Given the description of an element on the screen output the (x, y) to click on. 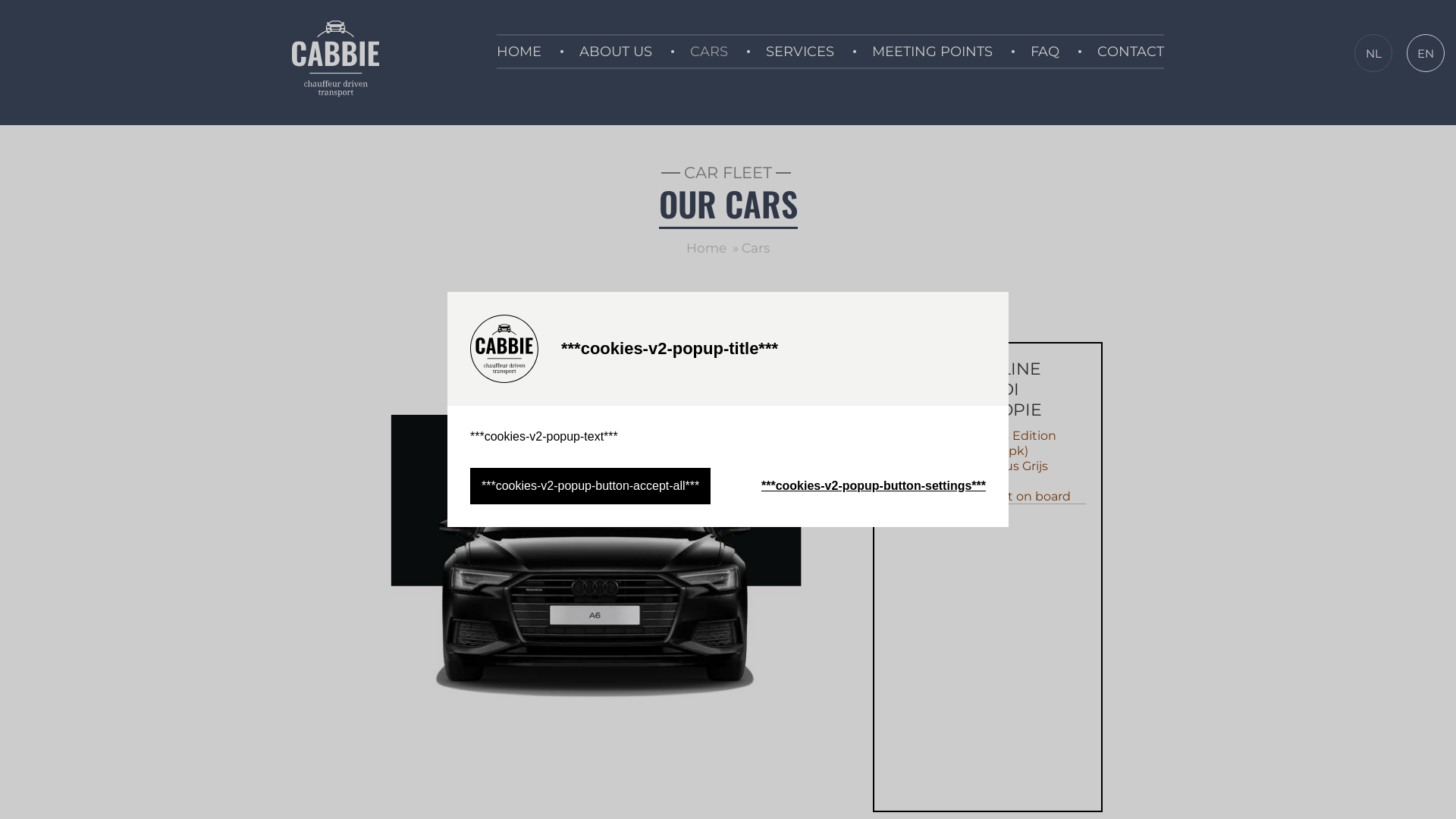
Share by e-mail Element type: hover (760, 314)
EN Element type: text (1425, 53)
Share on Twitter Element type: hover (724, 314)
ABOUT US Element type: text (615, 51)
Home Element type: text (706, 247)
Cars Element type: text (755, 247)
MEETING POINTS Element type: text (932, 51)
***cookies-v2-popup-button-accept-all*** Element type: text (590, 485)
CONTACT Element type: text (1130, 51)
SERVICES Element type: text (799, 51)
Share on Facebook Element type: hover (686, 314)
HOME Element type: text (518, 51)
CARS Element type: text (709, 51)
FAQ Element type: text (1044, 51)
***cookies-v2-popup-button-settings*** Element type: text (873, 485)
NL Element type: text (1373, 53)
